Given the description of an element on the screen output the (x, y) to click on. 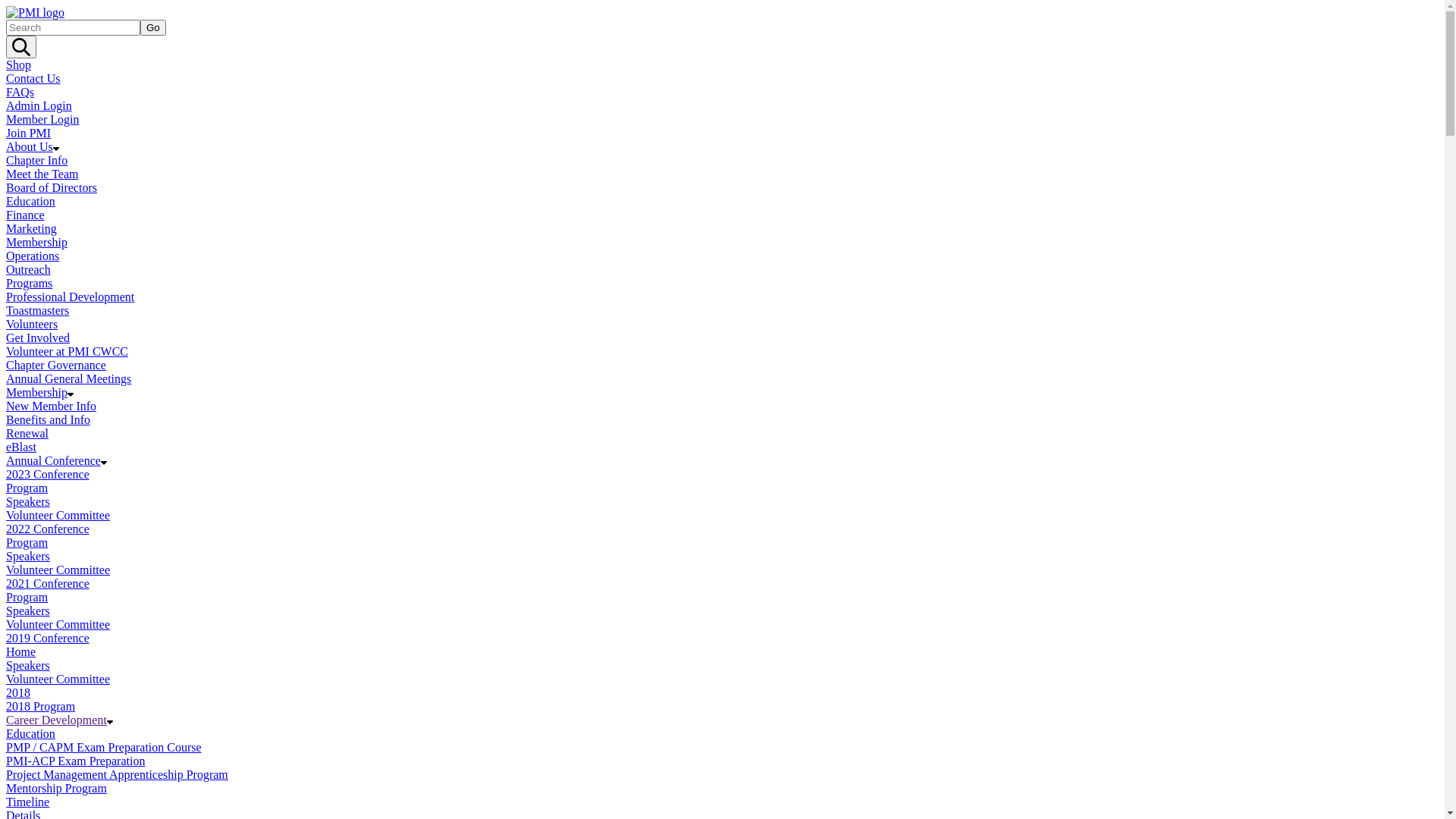
Meet the Team Element type: text (42, 173)
Annual Conference Element type: text (56, 460)
Board of Directors Element type: text (51, 187)
2021 Conference Element type: text (47, 583)
Get Involved Element type: text (37, 337)
Career Development Element type: text (59, 719)
Program Element type: text (26, 596)
Annual General Meetings Element type: text (68, 378)
Join PMI Element type: text (28, 132)
PMP / CAPM Exam Preparation Course Element type: text (103, 746)
Education Element type: text (30, 200)
2018 Element type: text (18, 692)
Contact Us Element type: text (33, 78)
Shop Element type: text (18, 64)
2019 Conference Element type: text (47, 637)
Operations Element type: text (32, 255)
2018 Program Element type: text (40, 705)
Chapter Info Element type: text (36, 159)
Membership Element type: text (36, 241)
Search Element type: hover (21, 46)
Speakers Element type: text (28, 664)
Toastmasters Element type: text (37, 310)
Speakers Element type: text (28, 501)
Volunteer at PMI CWCC Element type: text (67, 351)
Speakers Element type: text (28, 555)
2023 Conference Element type: text (47, 473)
Program Element type: text (26, 542)
Home Element type: text (20, 651)
Education Element type: text (30, 733)
Benefits and Info Element type: text (48, 419)
Member Login Element type: text (42, 118)
Programs Element type: text (29, 282)
Volunteer Committee Element type: text (57, 624)
Speakers Element type: text (28, 610)
Go Element type: text (153, 27)
Volunteer Committee Element type: text (57, 569)
Membership Element type: text (39, 391)
Program Element type: text (26, 487)
Project Management Apprenticeship Program Element type: text (117, 774)
Timeline Element type: text (27, 801)
Volunteer Committee Element type: text (57, 514)
eBlast Element type: text (21, 446)
Professional Development Element type: text (70, 296)
FAQs Element type: text (20, 91)
Search Element type: hover (73, 27)
About Us Element type: text (32, 146)
Chapter Governance Element type: text (56, 364)
Outreach Element type: text (28, 269)
Renewal Element type: text (27, 432)
2022 Conference Element type: text (47, 528)
Finance Element type: text (25, 214)
PMI-ACP Exam Preparation Element type: text (75, 760)
Admin Login Element type: text (39, 105)
Mentorship Program Element type: text (56, 787)
Volunteers Element type: text (31, 323)
New Member Info Element type: text (51, 405)
Volunteer Committee Element type: text (57, 678)
Marketing Element type: text (31, 228)
